Given the description of an element on the screen output the (x, y) to click on. 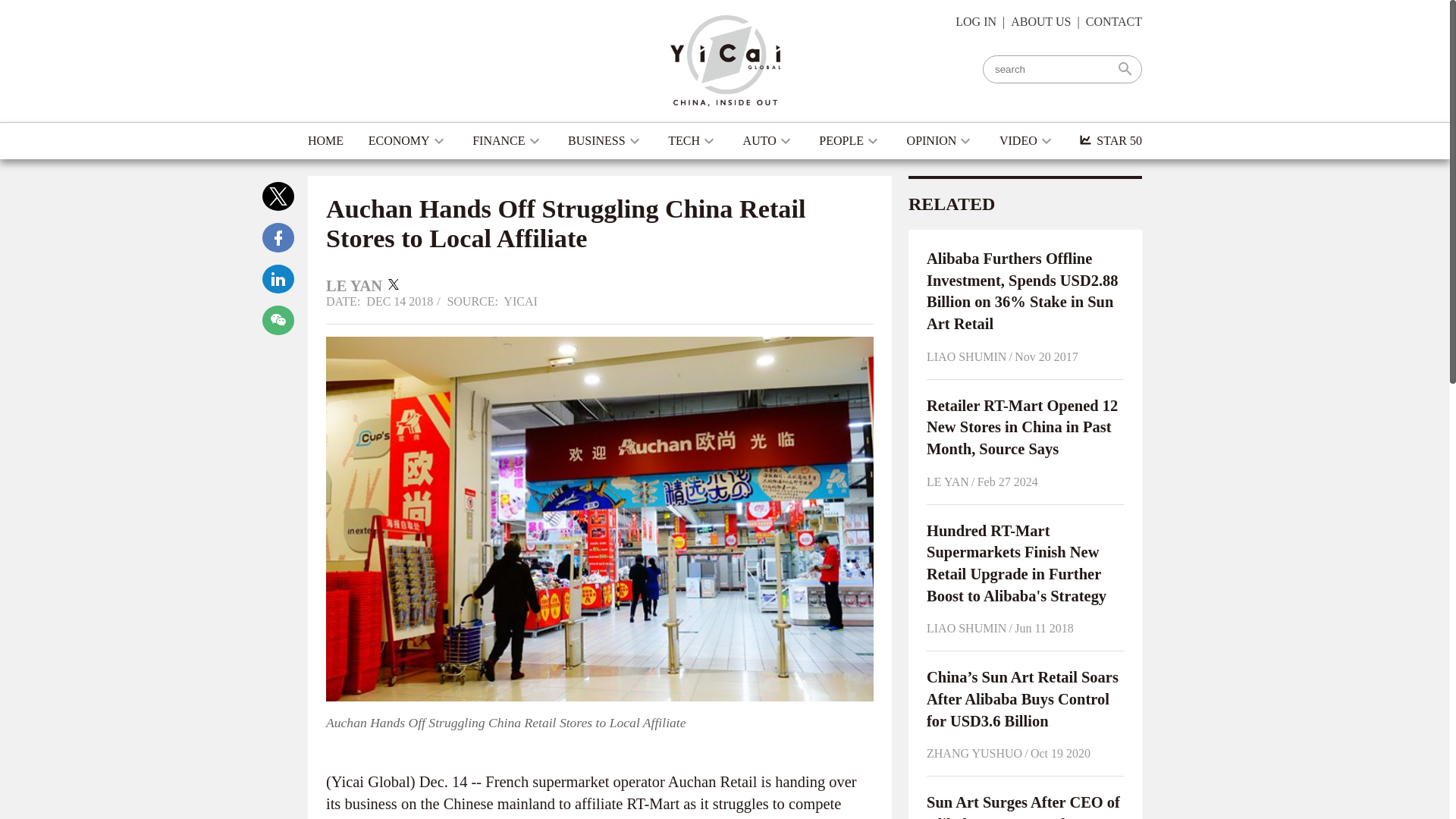
OPINION (941, 140)
ECONOMY (408, 140)
HOME (325, 140)
AUTO (768, 140)
PEOPLE (850, 140)
VIDEO (1026, 140)
STAR 50 (1110, 140)
CONTACT (1113, 21)
BUSINESS (605, 140)
FINANCE (507, 140)
